Given the description of an element on the screen output the (x, y) to click on. 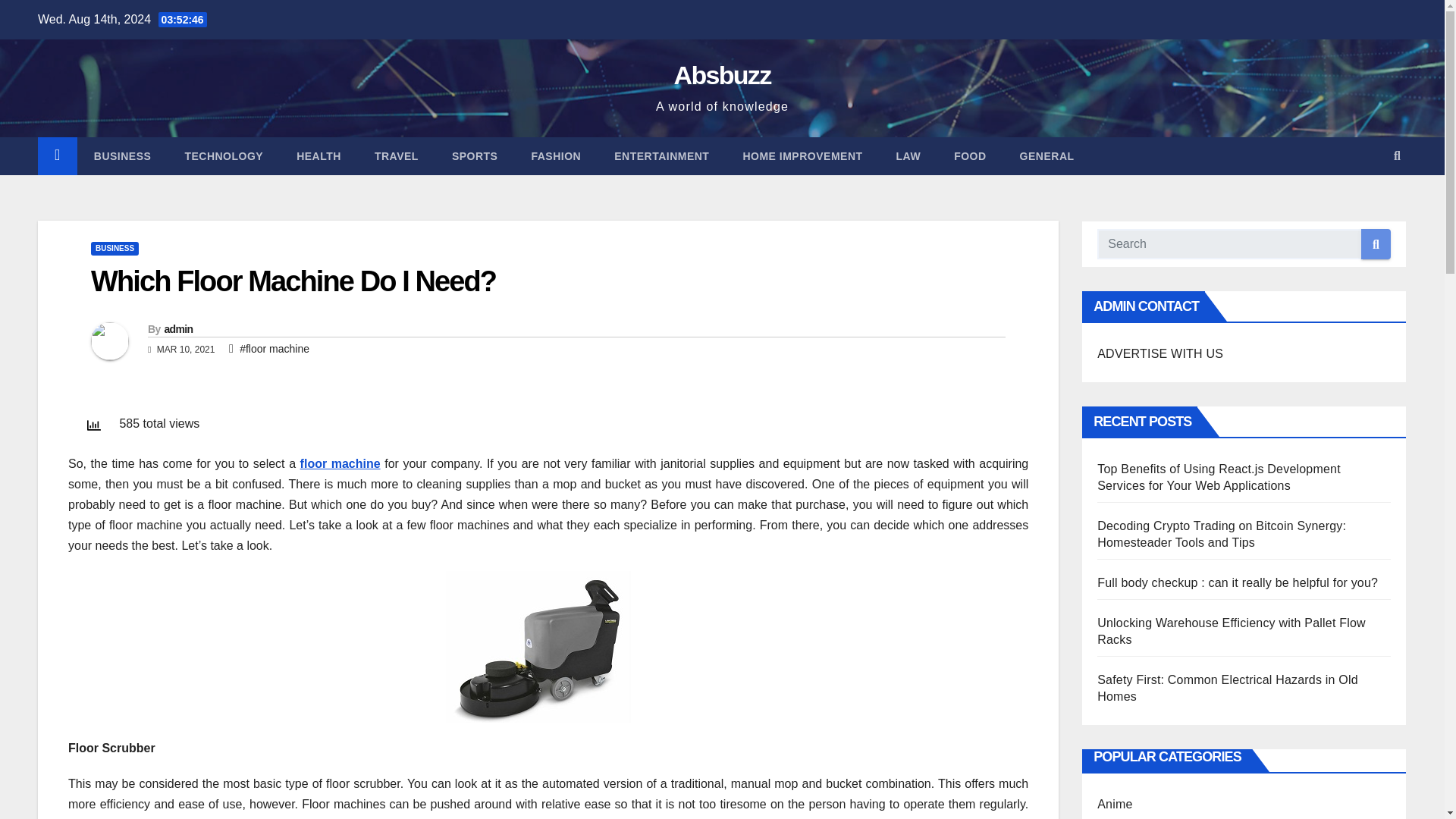
LAW (908, 156)
Permalink to: Which Floor Machine Do I Need? (293, 281)
Law (908, 156)
Sports (475, 156)
HEALTH (318, 156)
TRAVEL (396, 156)
HOME IMPROVEMENT (802, 156)
Fashion (554, 156)
Entertainment (660, 156)
ENTERTAINMENT (660, 156)
